Given the description of an element on the screen output the (x, y) to click on. 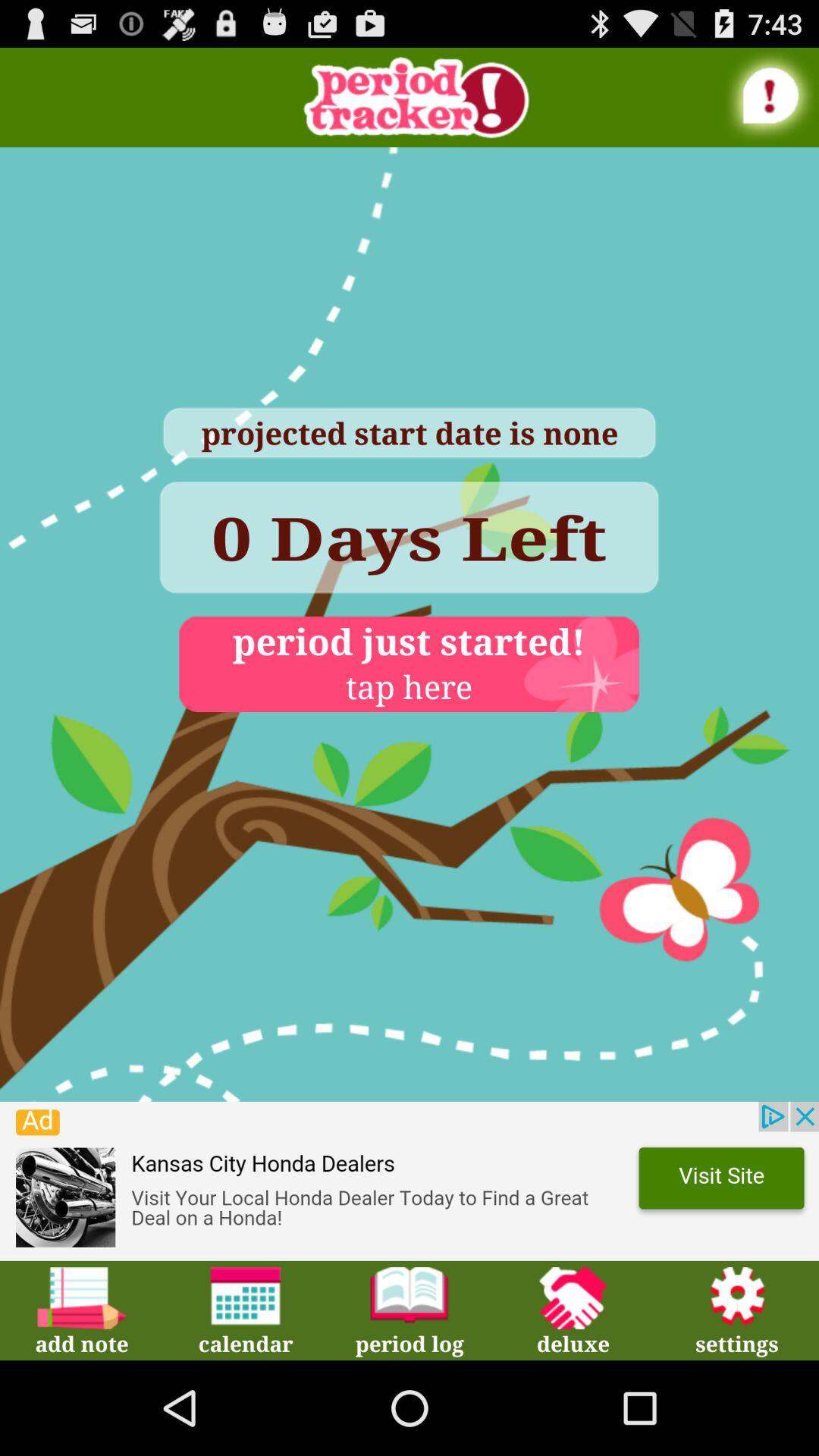
add the option (409, 1180)
